Given the description of an element on the screen output the (x, y) to click on. 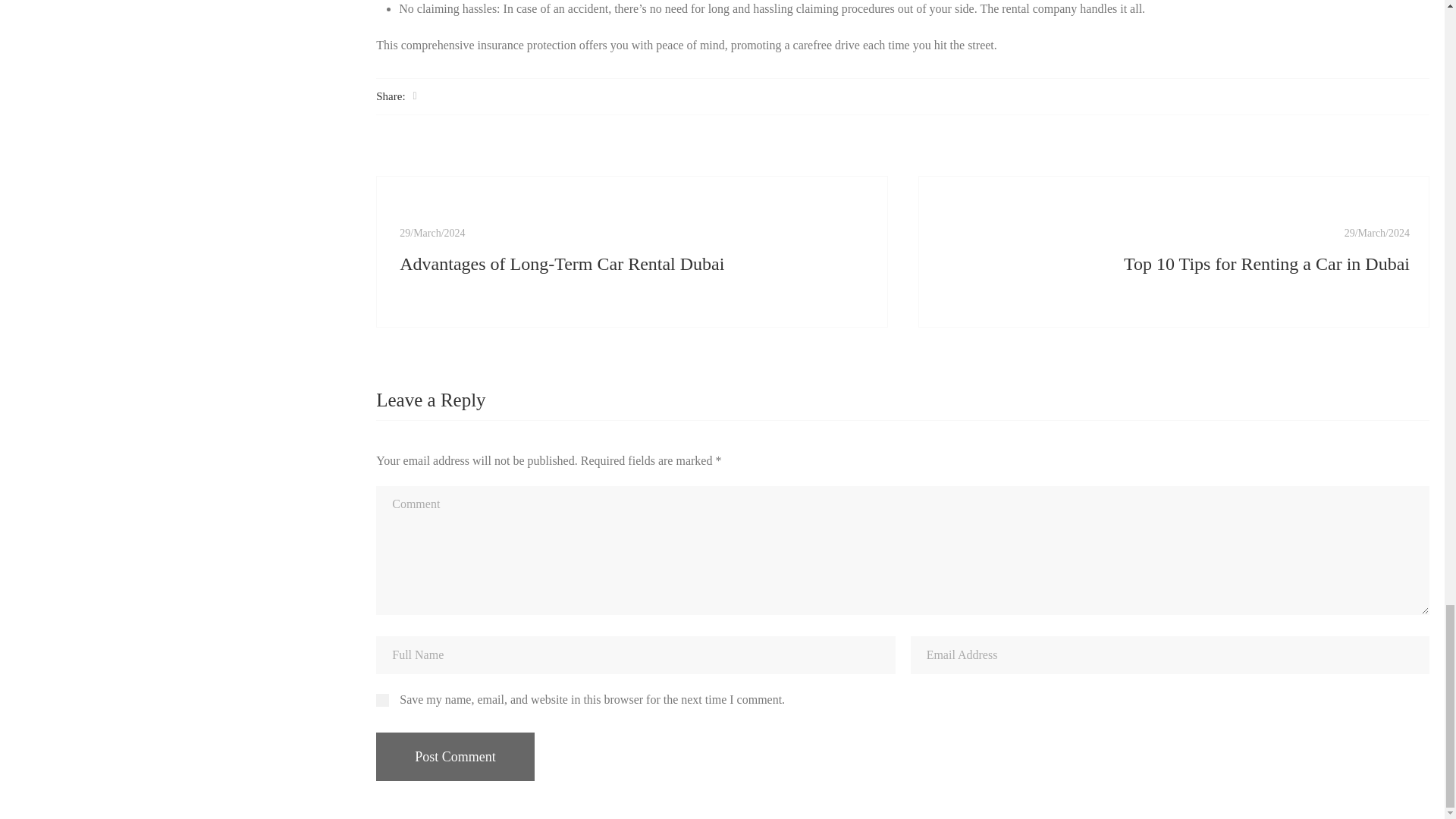
Advantages of Long-Term Car Rental Dubai (632, 264)
yes (381, 699)
Post Comment (454, 756)
Advantages of Long-Term Car Rental Dubai (431, 233)
Top 10 Tips for Renting a Car in Dubai (1376, 233)
